Given the description of an element on the screen output the (x, y) to click on. 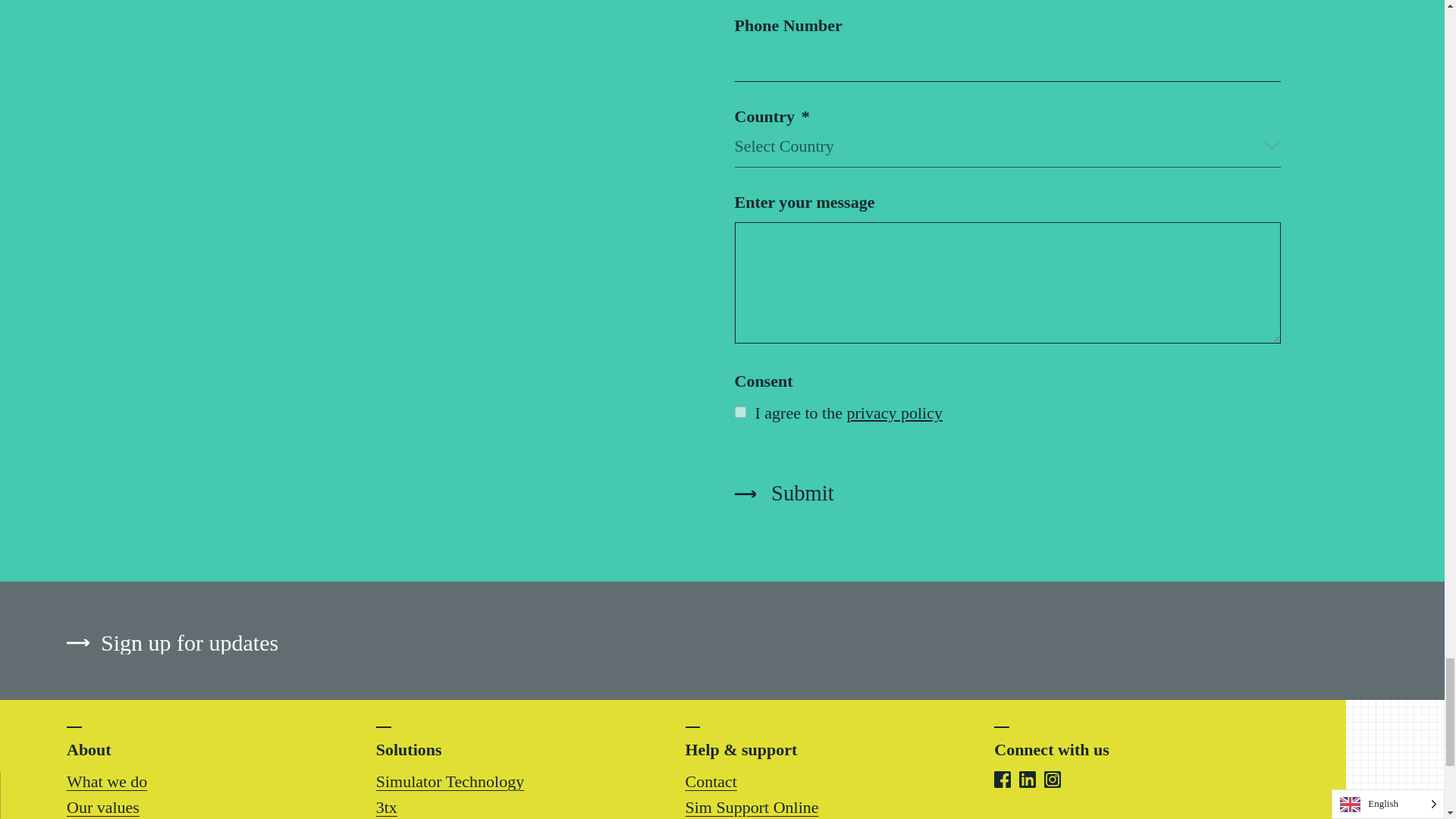
1 (739, 411)
